Given the description of an element on the screen output the (x, y) to click on. 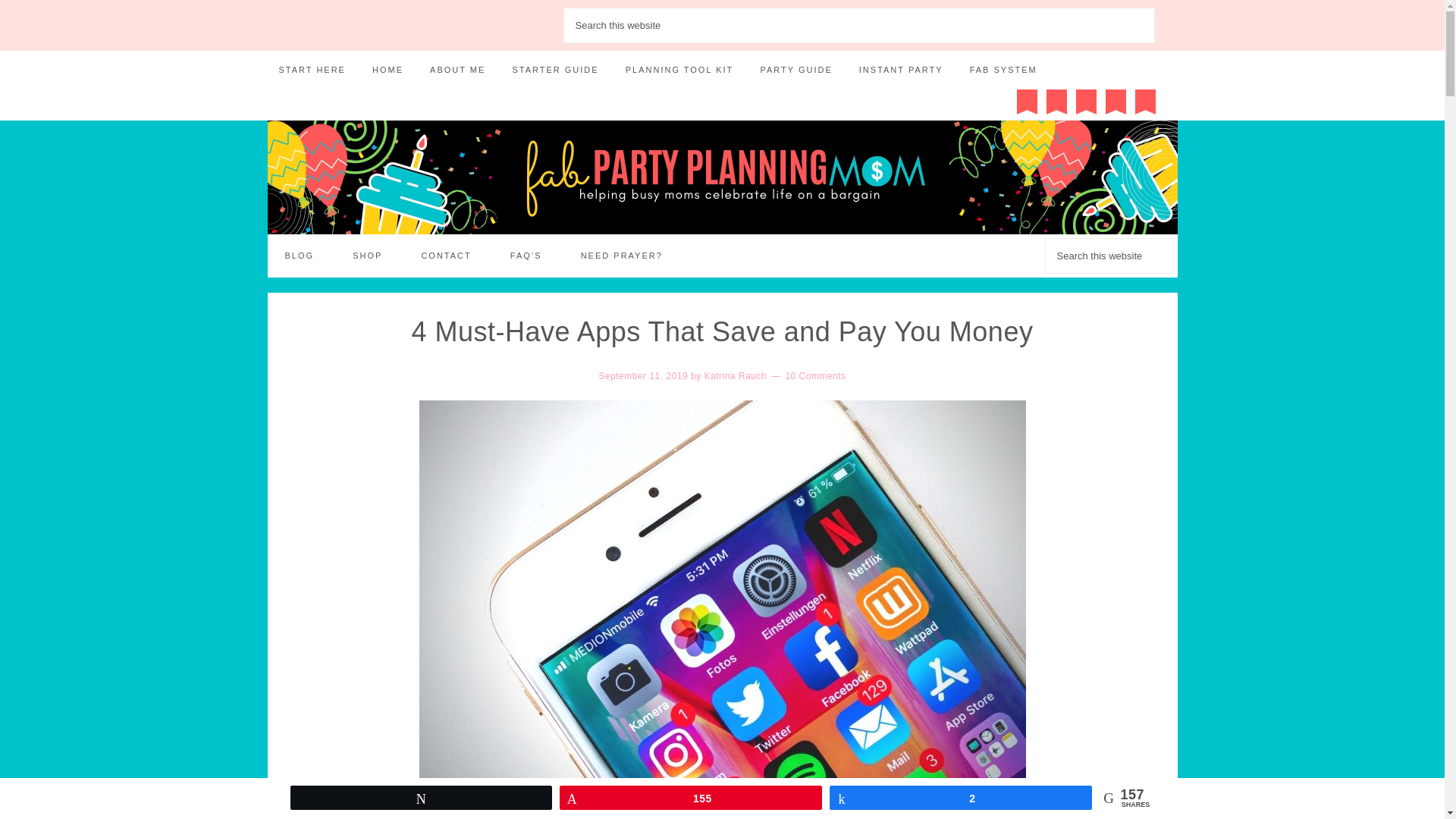
STARTER GUIDE (555, 69)
START HERE (311, 69)
PLANNING TOOL KIT (679, 69)
INSTANT PARTY (901, 69)
PARTY GUIDE (795, 69)
BLOG (298, 255)
